Given the description of an element on the screen output the (x, y) to click on. 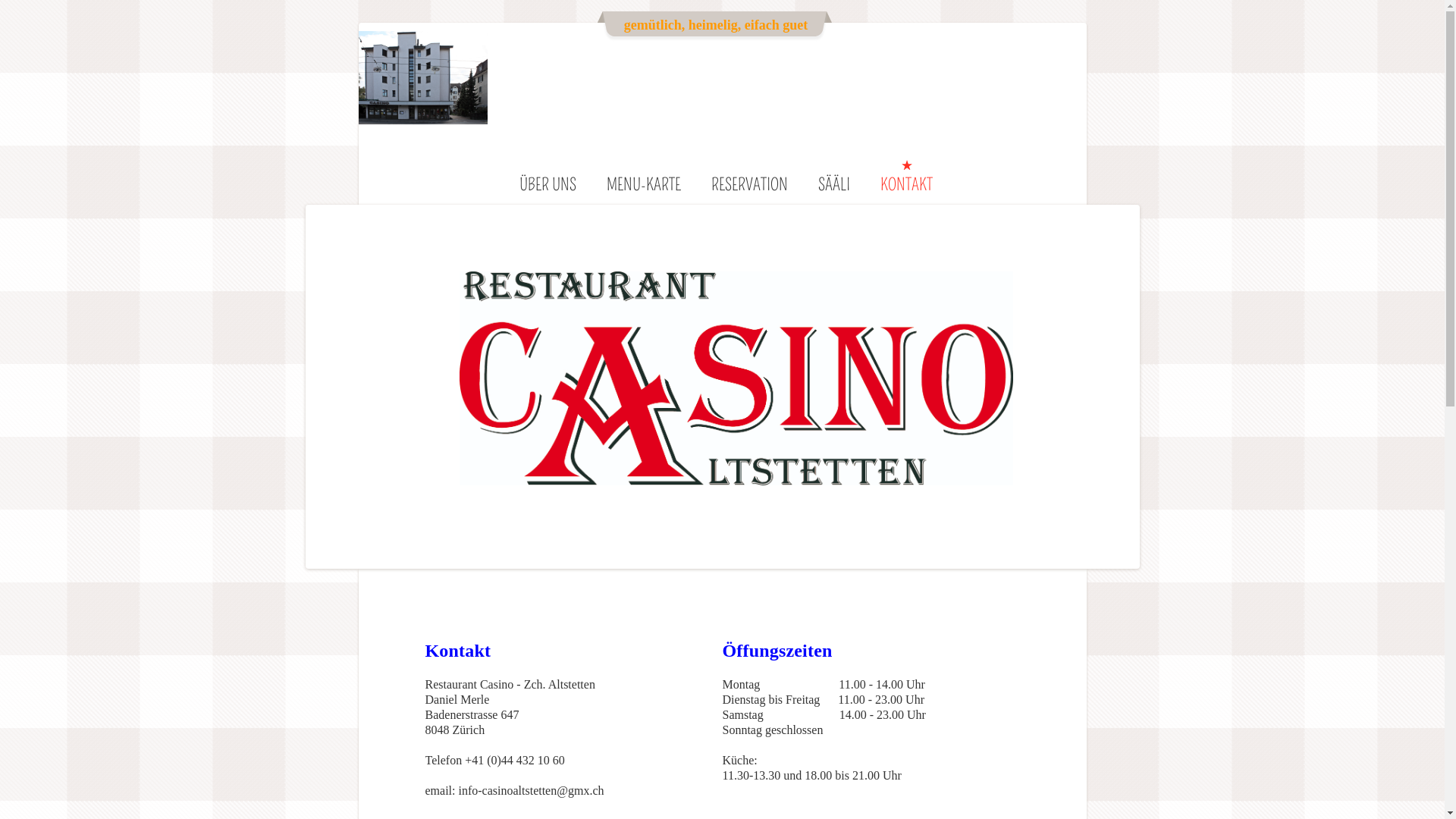
KONTAKT Element type: text (906, 184)
RESERVATION Element type: text (749, 184)
MENU-KARTE Element type: text (643, 184)
